Given the description of an element on the screen output the (x, y) to click on. 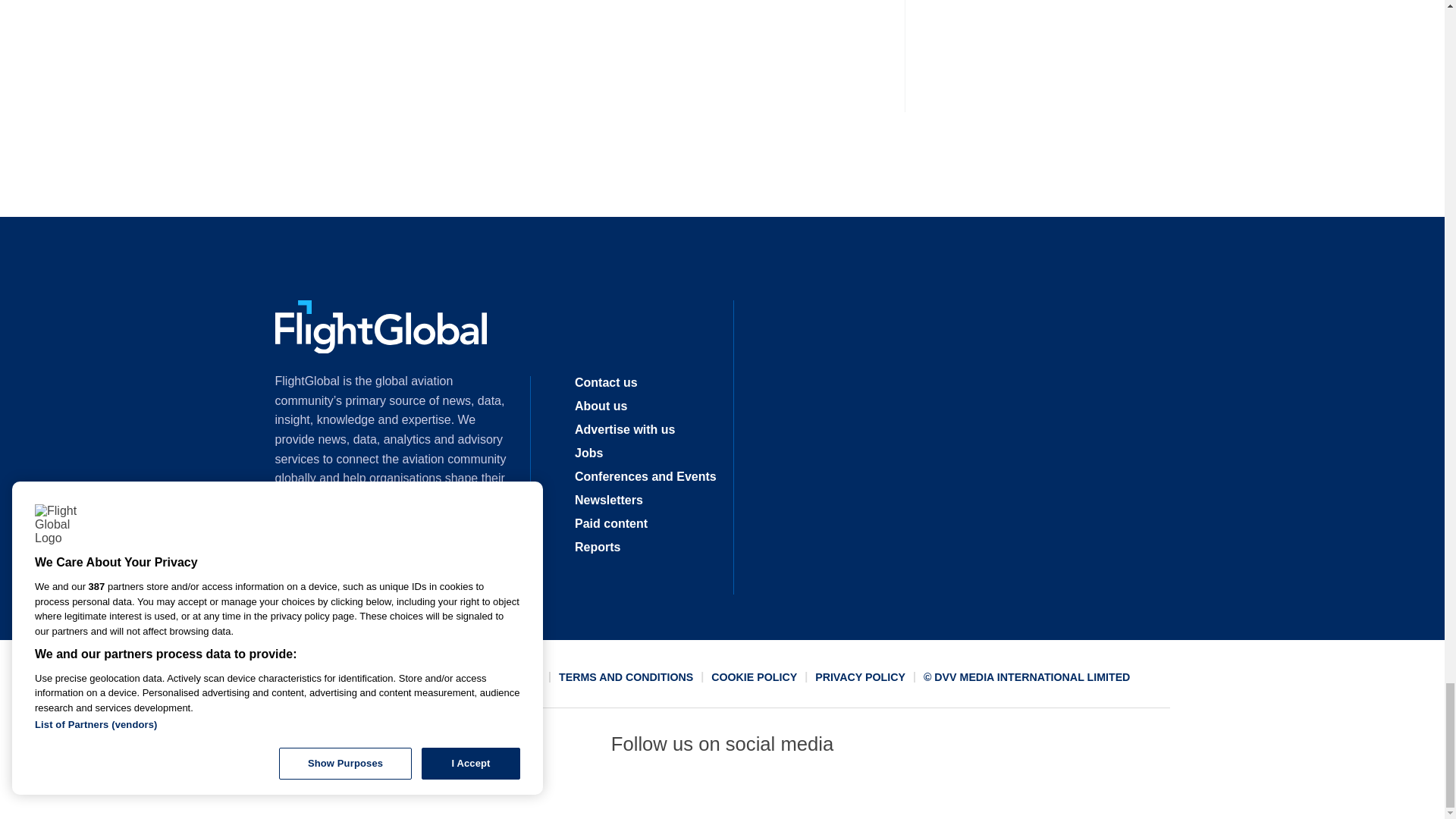
Connect with us on Linked In (721, 791)
Email us (776, 791)
Connect with us on Facebook (611, 791)
Connect with us on Youtube (831, 791)
Connect with us on Twitter (667, 791)
